Given the description of an element on the screen output the (x, y) to click on. 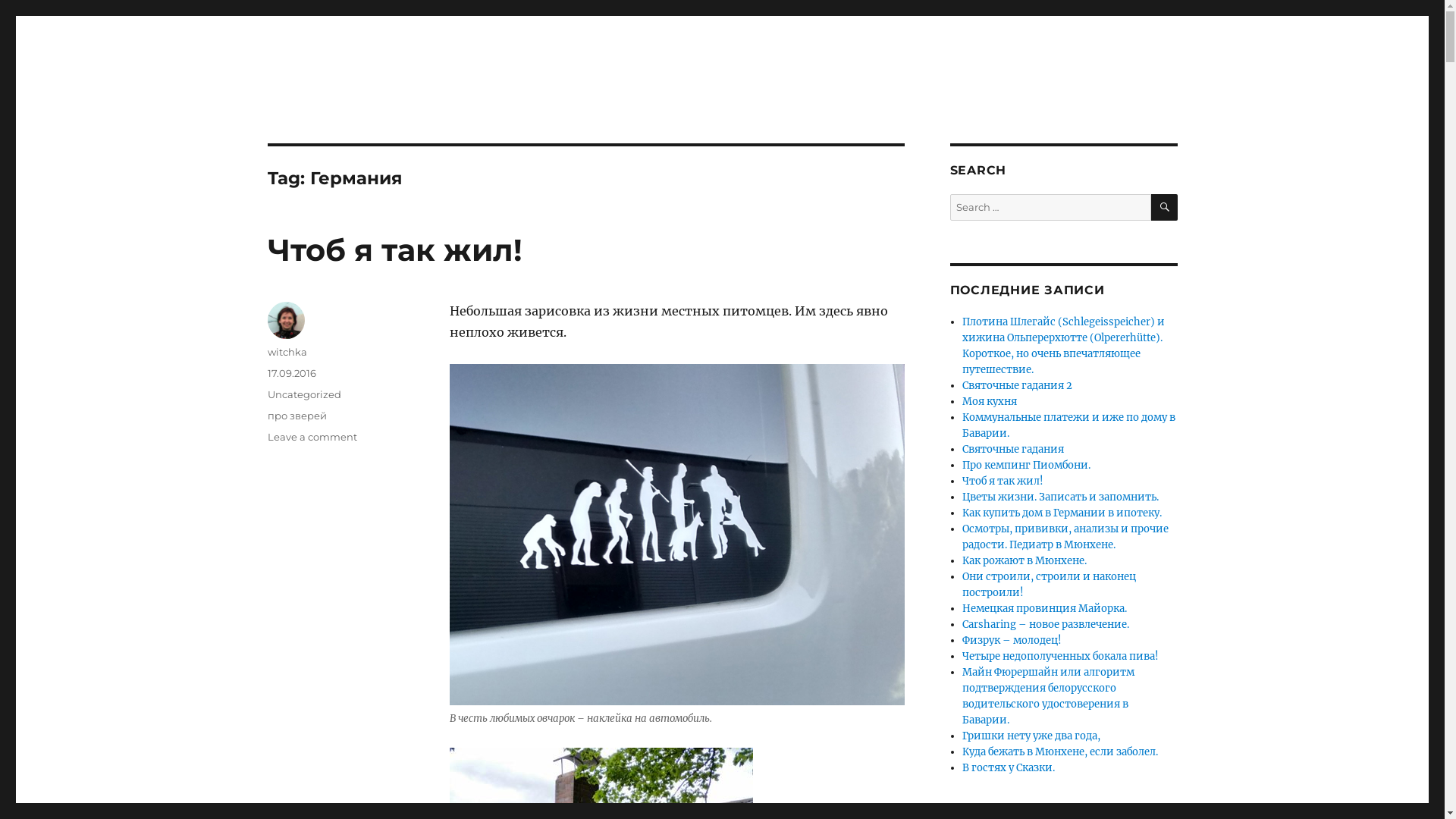
IBNHouse Element type: text (321, 92)
witchka Element type: text (286, 351)
17.09.2016 Element type: text (290, 373)
SEARCH Element type: text (1164, 207)
